Given the description of an element on the screen output the (x, y) to click on. 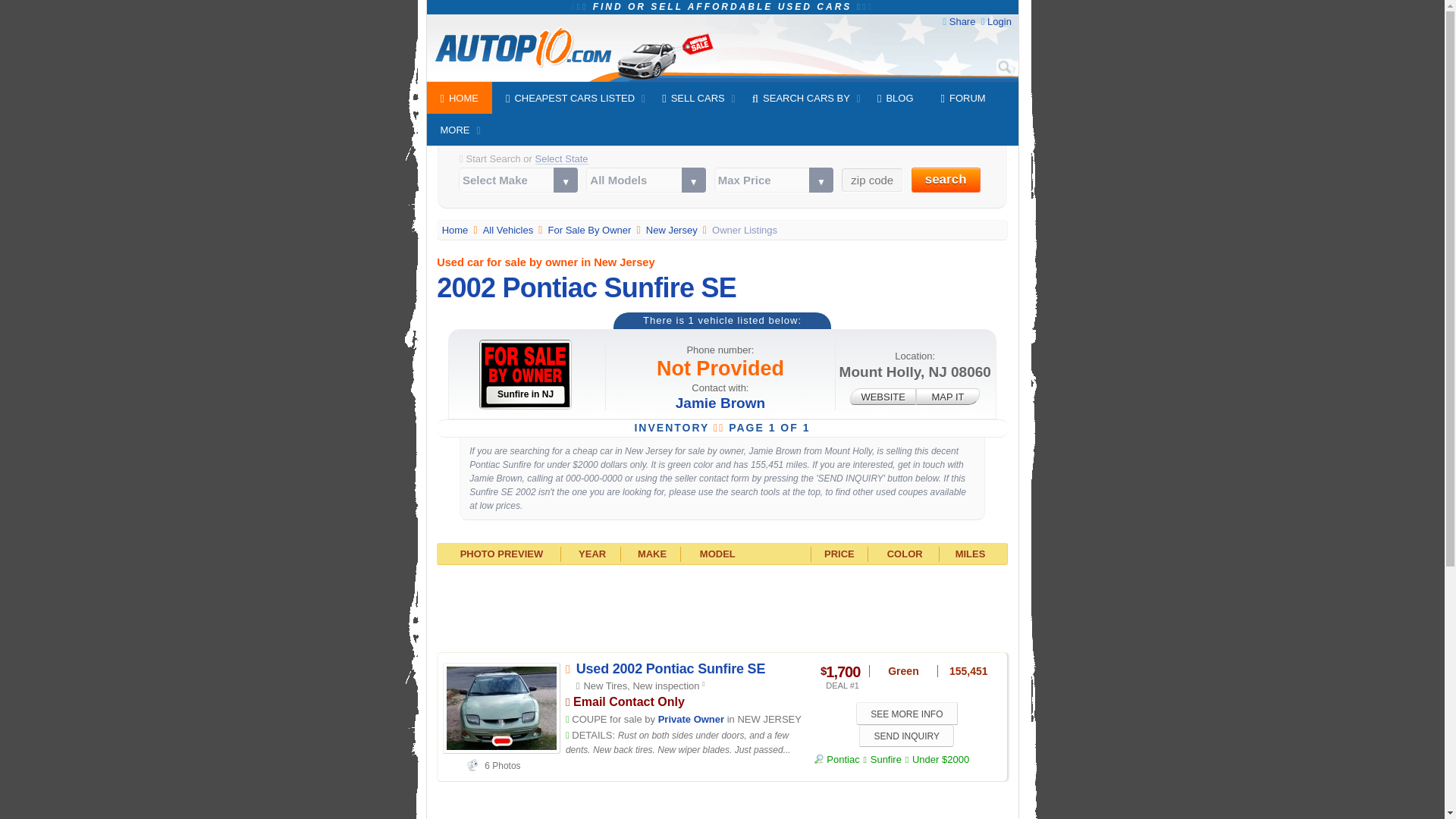
seller comments... (678, 742)
SEE MORE INFO (907, 712)
SEARCH CARS BY (800, 97)
Browse all used Pontiac Sunfire available (885, 758)
Used 2002 Pontiac Sunfire SE (670, 668)
SELL CARS (692, 97)
Pontiac (836, 758)
Browse all Pontiac cars listed (836, 758)
FORUM (962, 97)
Share (962, 21)
New Jersey (673, 229)
Login (999, 21)
This link is disabled (882, 396)
HOME (459, 97)
Seller info (690, 718)
